Given the description of an element on the screen output the (x, y) to click on. 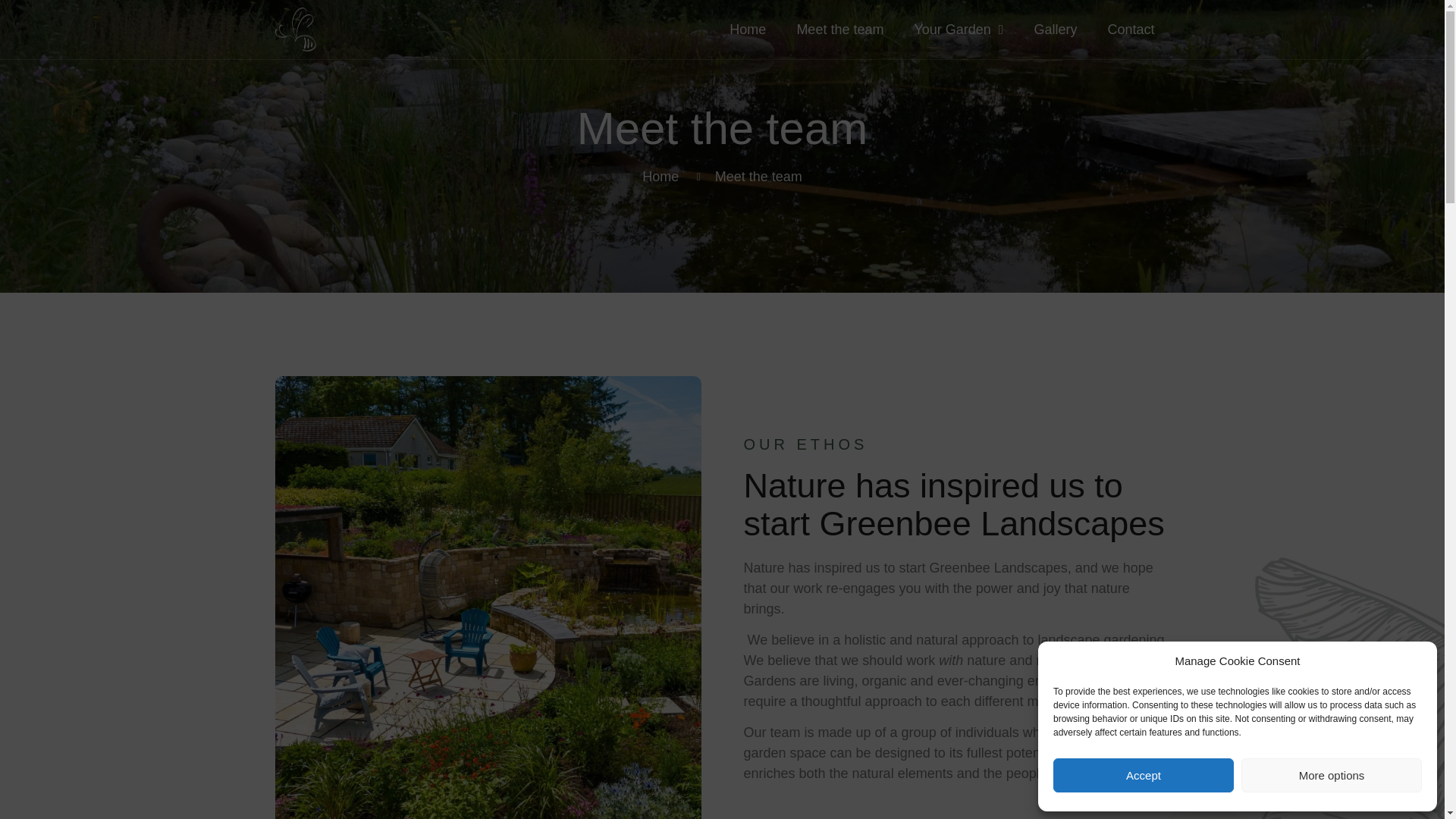
Meet the team (839, 29)
Home (747, 29)
Home (660, 177)
Accept (1142, 775)
More options (1331, 775)
Gallery (1054, 29)
Contact (1130, 29)
Your Garden (957, 29)
